Given the description of an element on the screen output the (x, y) to click on. 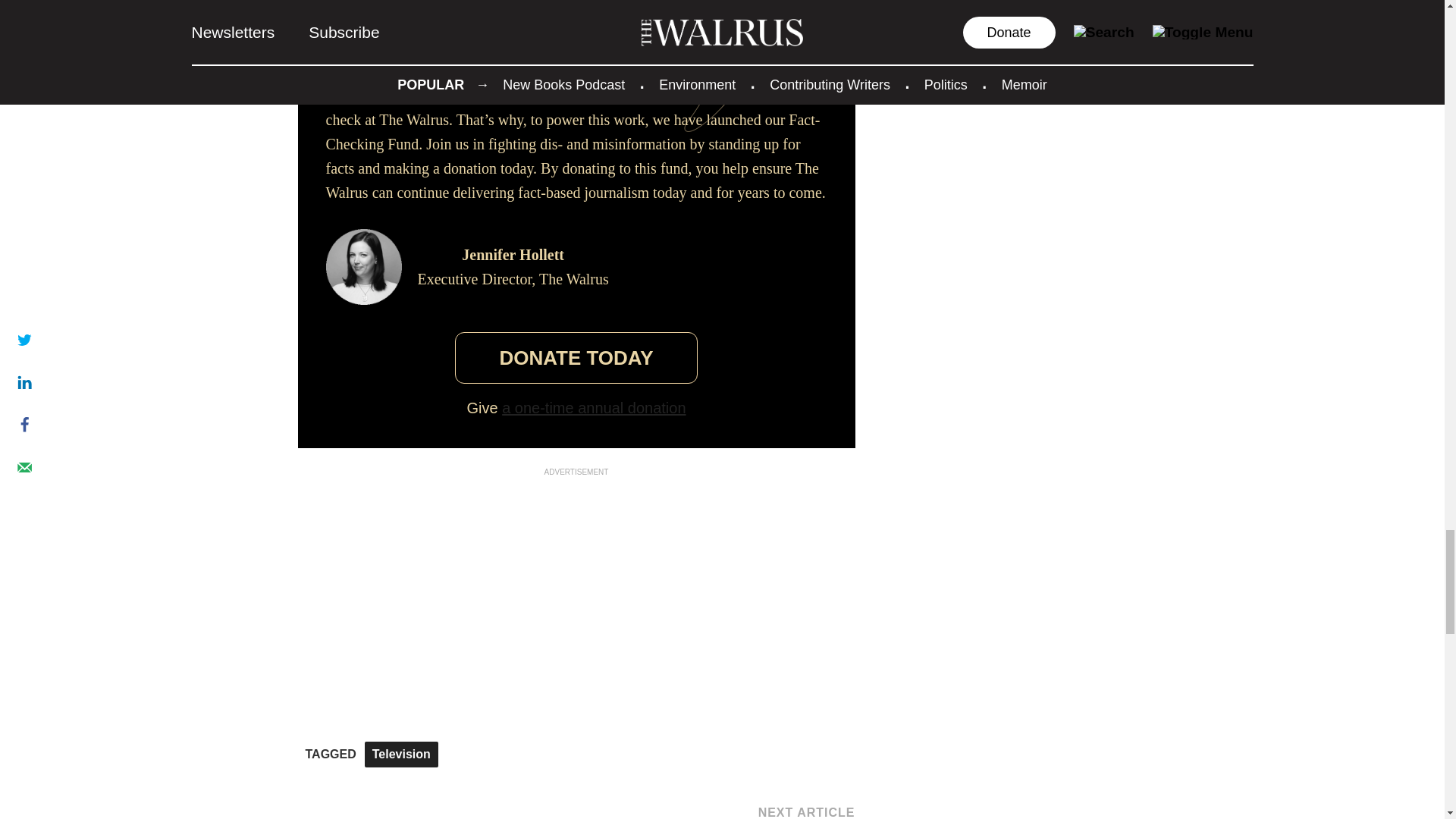
3rd party ad content (576, 573)
